Given the description of an element on the screen output the (x, y) to click on. 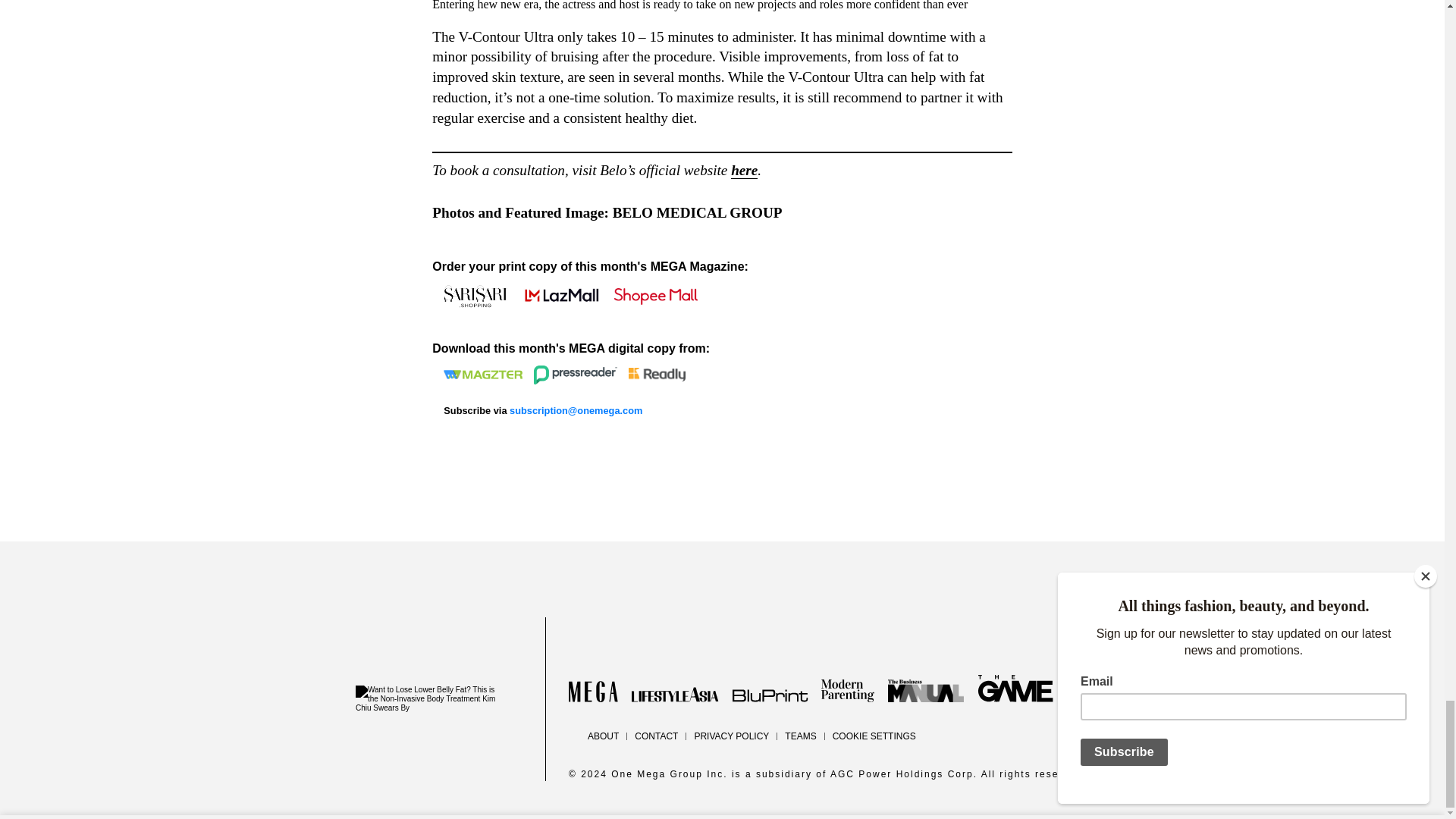
Lazada (560, 295)
Press Reader (575, 374)
Subscribe now! (575, 410)
Sari Sari Shopping (476, 296)
Magzter (483, 374)
Shopee (655, 296)
Readly (656, 373)
